Given the description of an element on the screen output the (x, y) to click on. 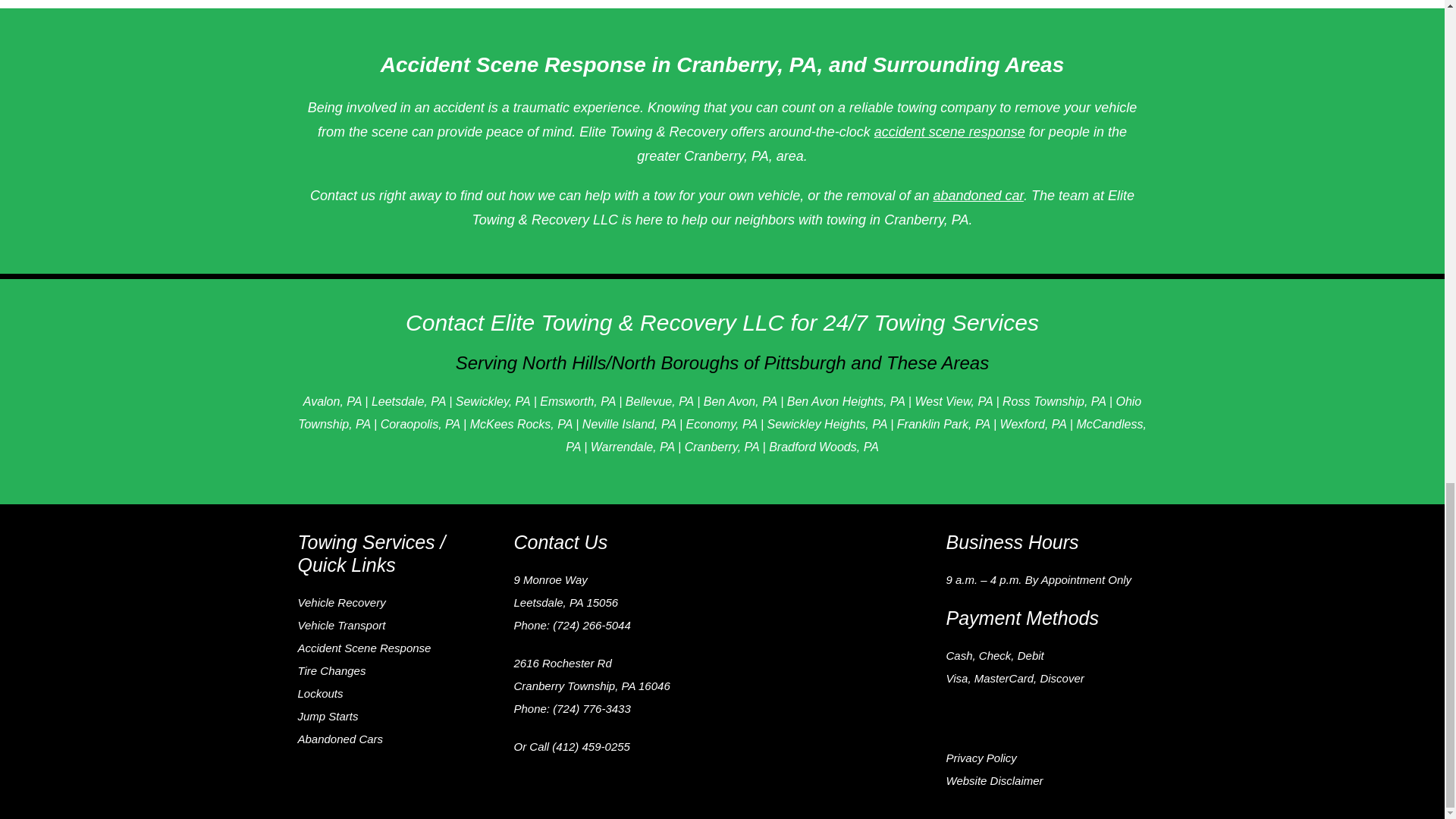
2616 Rochester Rd Cranberry Township, PA 16046 (829, 716)
9 Monroe Way Leetsdale, PA 15056 (829, 587)
